Given the description of an element on the screen output the (x, y) to click on. 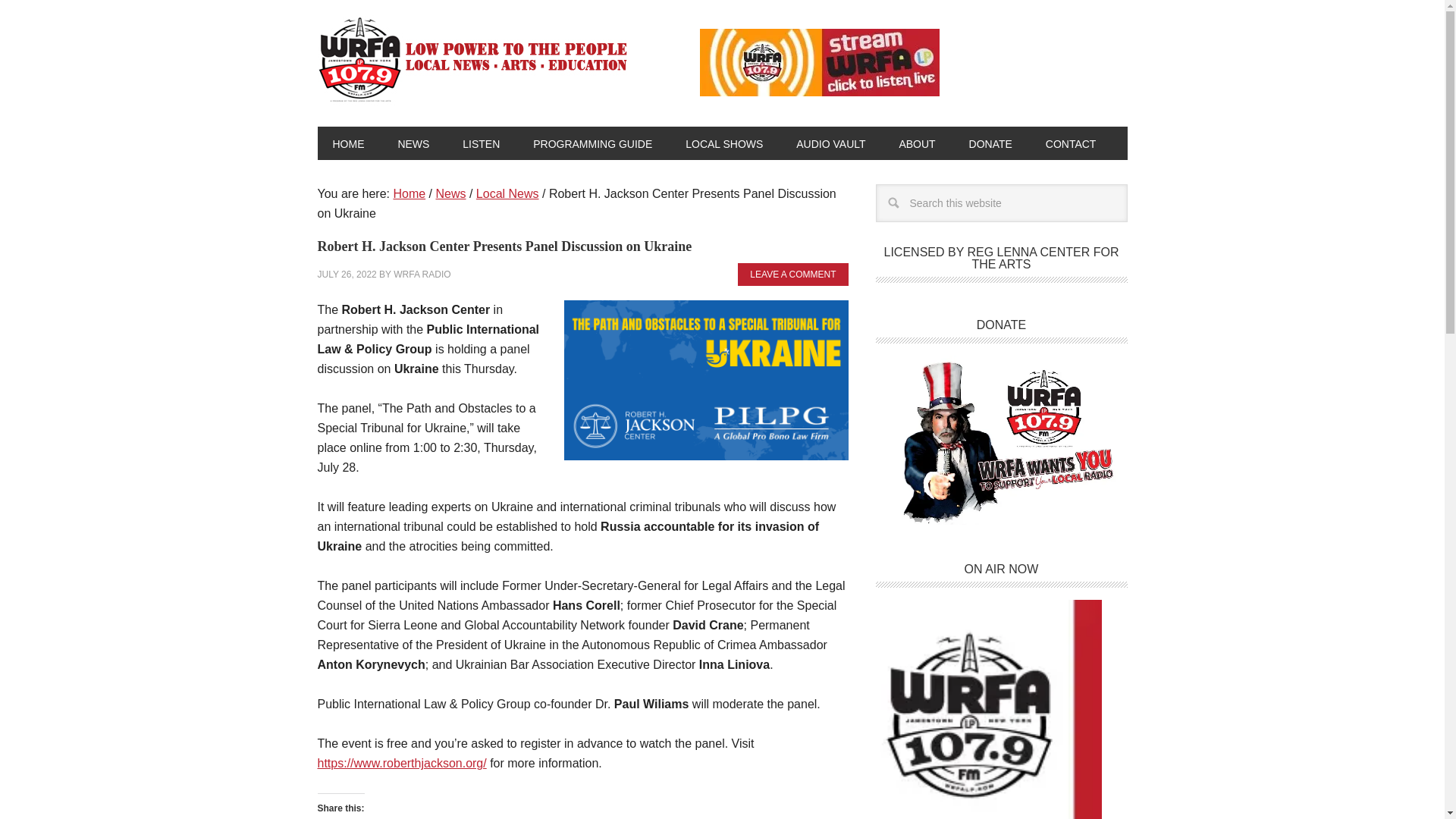
DONATE (990, 142)
LOCAL SHOWS (723, 142)
WRFA-LP 107.9 FM (473, 58)
LISTEN (480, 142)
NEWS (412, 142)
AUDIO VAULT (830, 142)
PROGRAMMING GUIDE (592, 142)
ABOUT (916, 142)
HOME (347, 142)
